Given the description of an element on the screen output the (x, y) to click on. 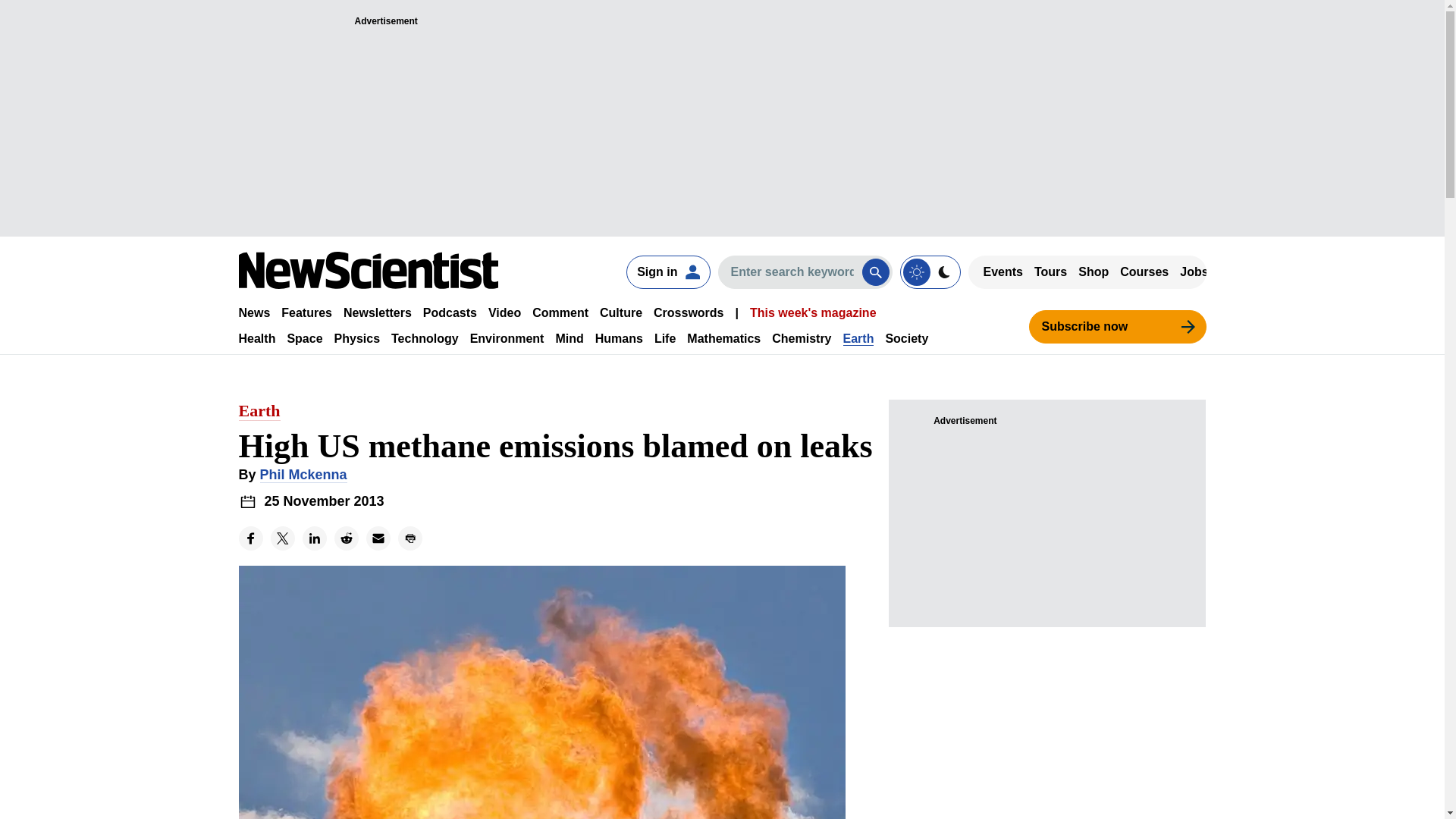
Crosswords (688, 313)
Jobs (1193, 272)
Culture (620, 313)
Physics (357, 338)
Mathematics (723, 338)
Tours (1050, 272)
Subscribe now (1116, 326)
Society (906, 338)
Humans (619, 338)
Newsletters (377, 313)
Environment (507, 338)
Events (1002, 272)
Chemistry (801, 338)
Life (664, 338)
Sign In page link (668, 272)
